Given the description of an element on the screen output the (x, y) to click on. 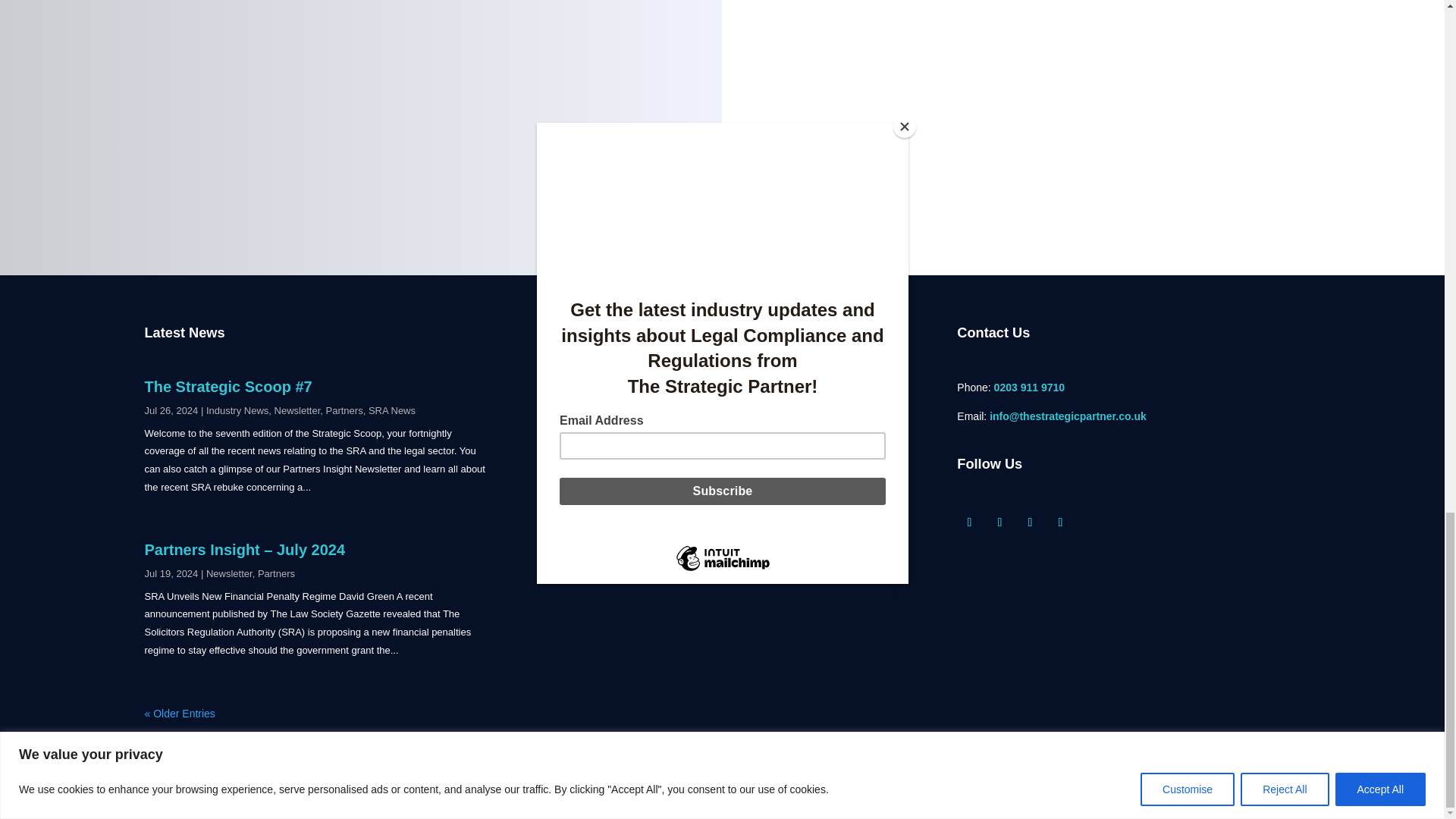
Follow on Facebook (968, 522)
Follow on Instagram (1029, 522)
Follow on X (999, 522)
Follow on LinkedIn (1059, 522)
